Given the description of an element on the screen output the (x, y) to click on. 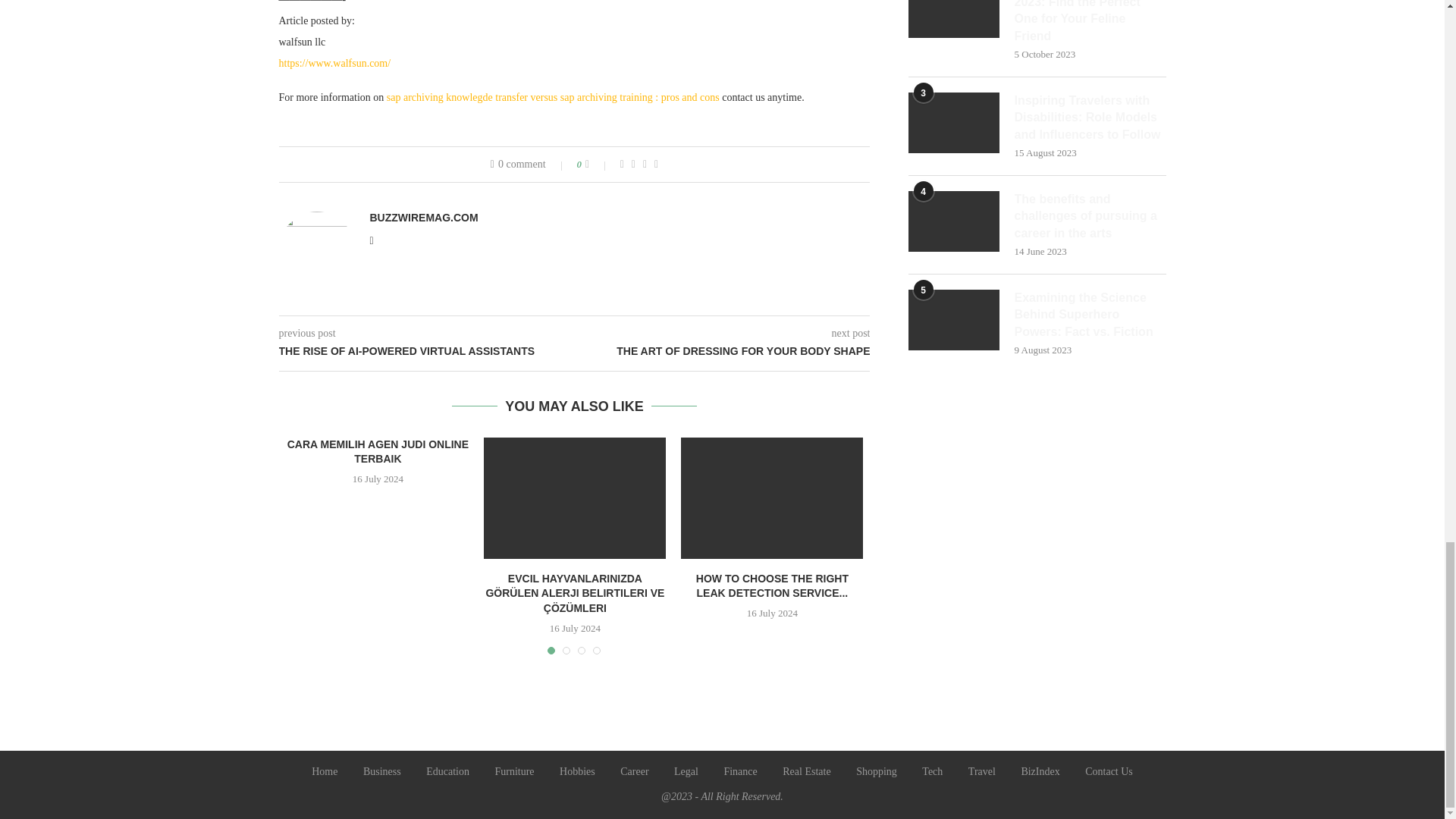
Like (597, 164)
Author buzzwiremag.com (424, 217)
